Given the description of an element on the screen output the (x, y) to click on. 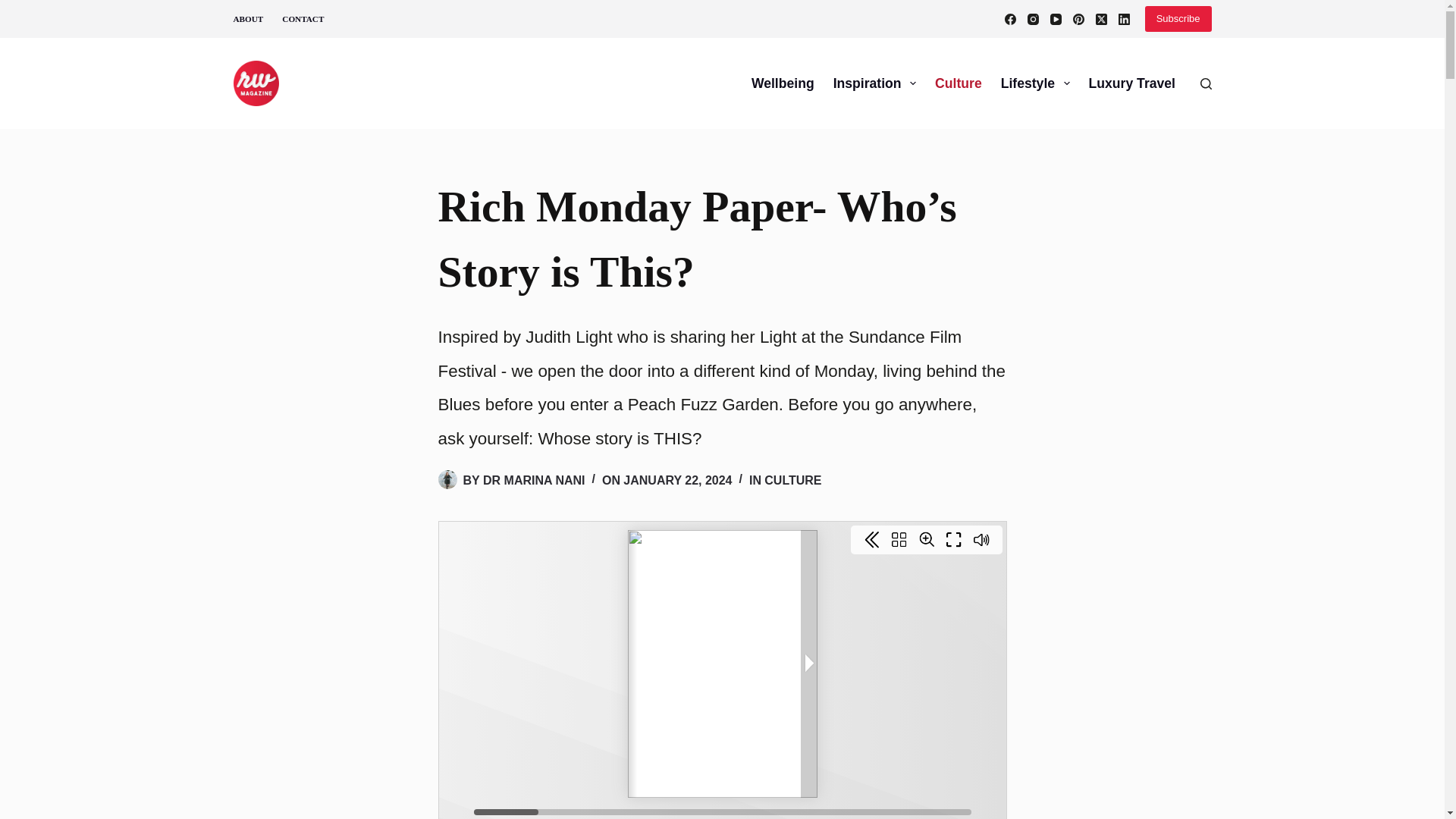
Posts by Dr Marina Nani (534, 480)
ABOUT (252, 18)
Skip to content (15, 7)
CONTACT (303, 18)
